Given the description of an element on the screen output the (x, y) to click on. 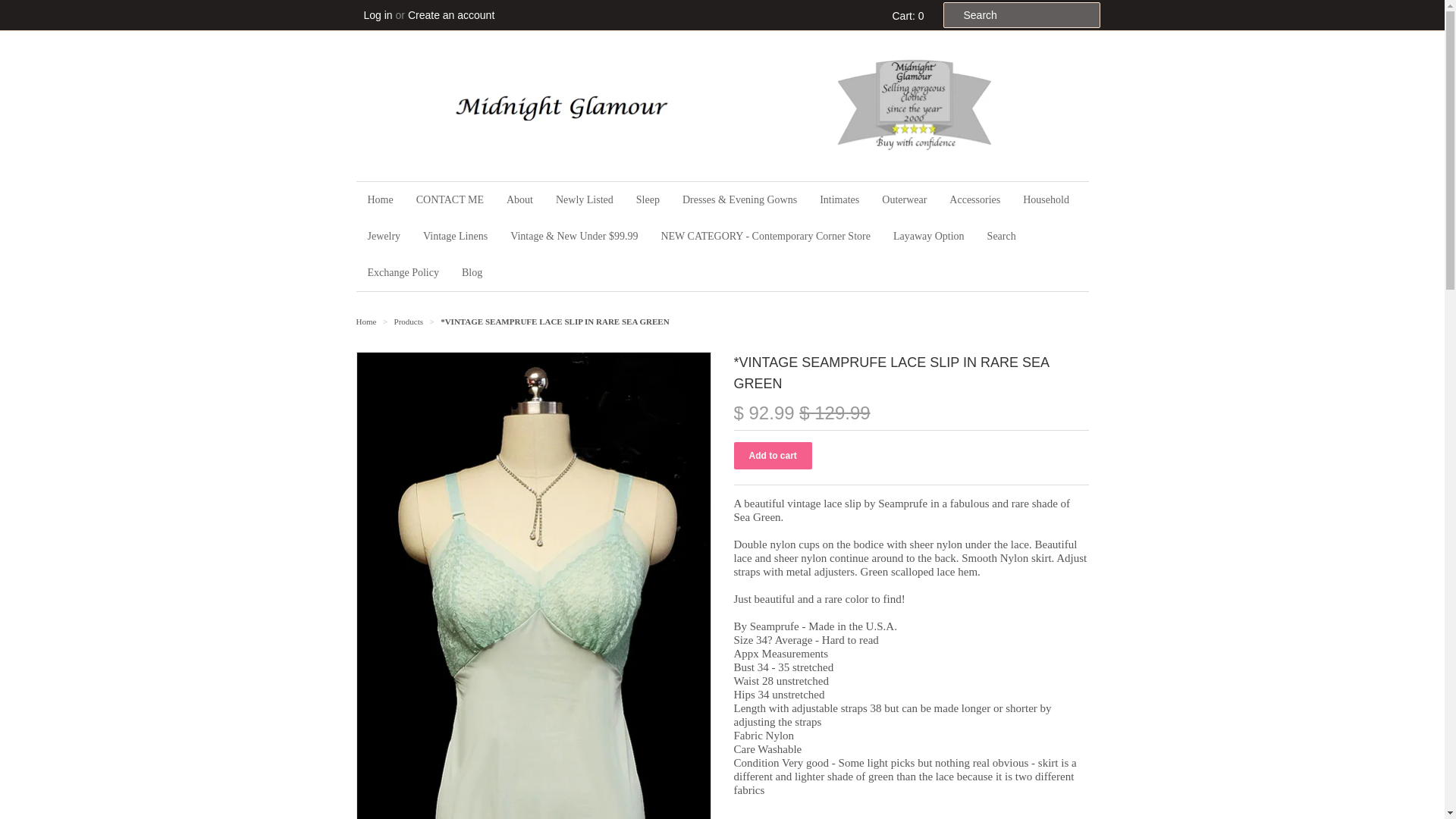
Create an account (451, 15)
Add to cart (772, 455)
Cart: 0 (904, 15)
All Products (409, 320)
Shopping Cart (904, 15)
Log in (378, 15)
